Given the description of an element on the screen output the (x, y) to click on. 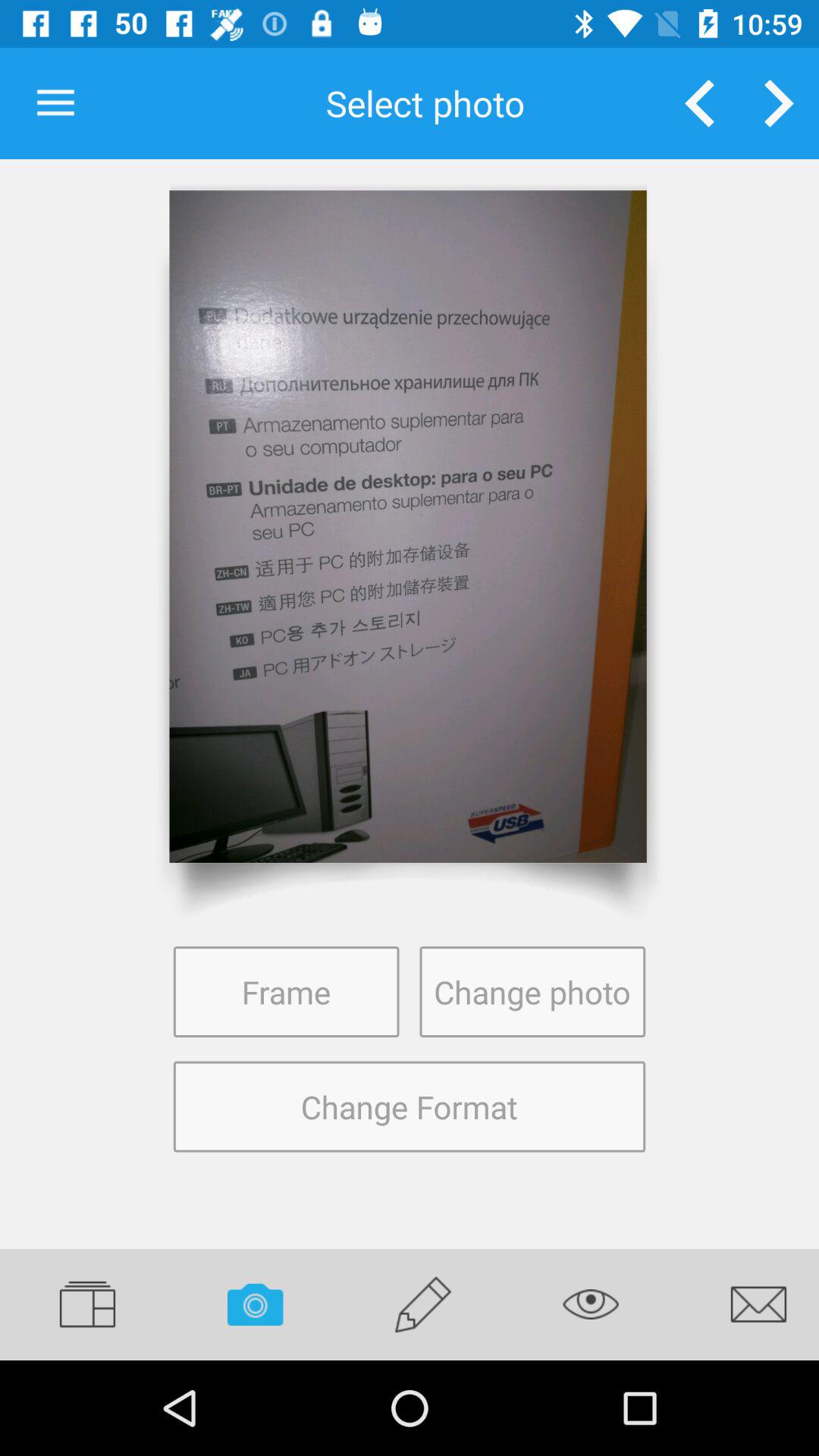
advance to next photo (779, 103)
